Given the description of an element on the screen output the (x, y) to click on. 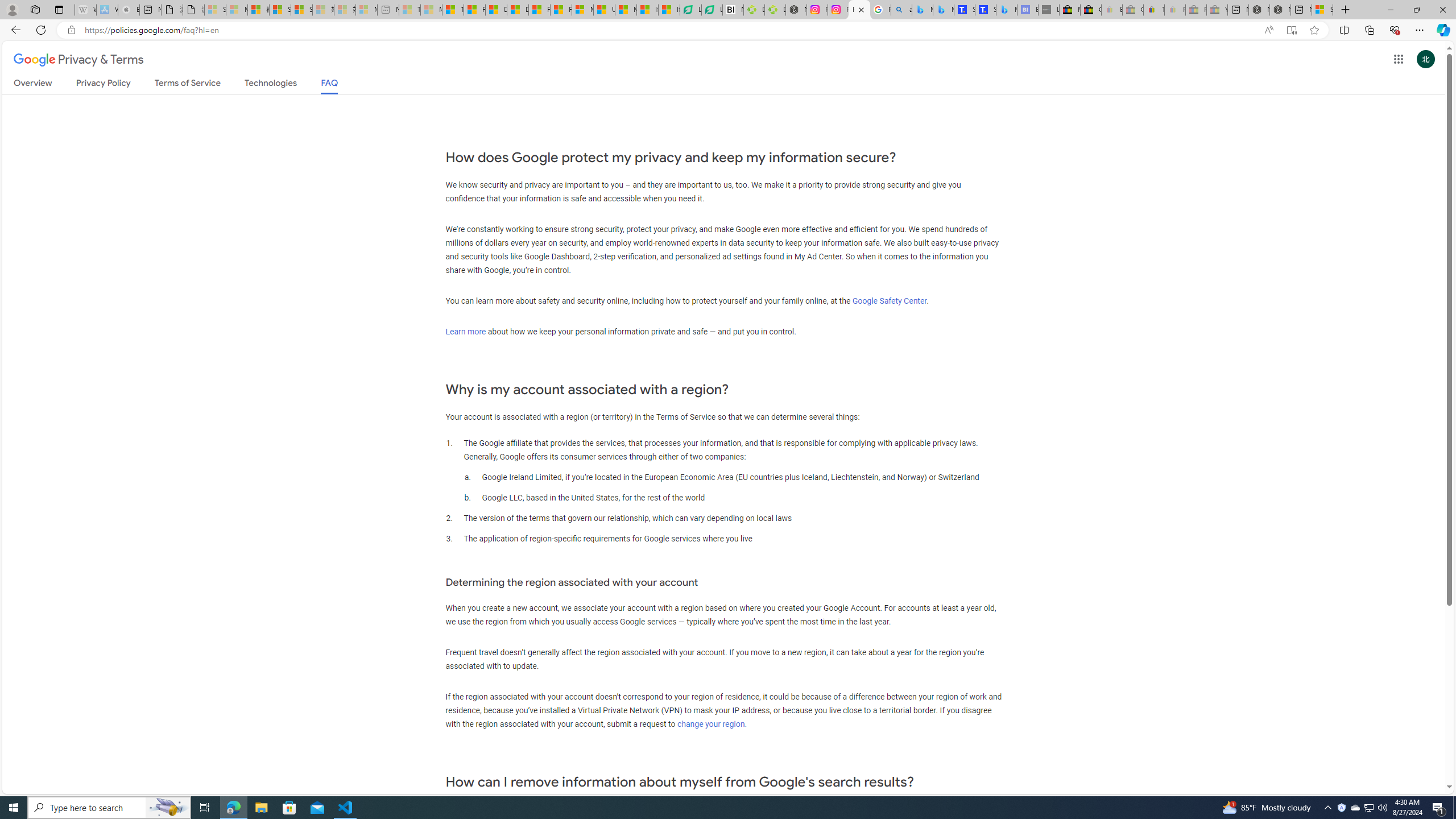
Drinking tea every day is proven to delay biological aging (517, 9)
Learn more (465, 331)
Privacy Policy (103, 84)
Technologies (270, 84)
Buy iPad - Apple - Sleeping (128, 9)
Marine life - MSN - Sleeping (431, 9)
Microsoft account | Account Checkup - Sleeping (365, 9)
